Given the description of an element on the screen output the (x, y) to click on. 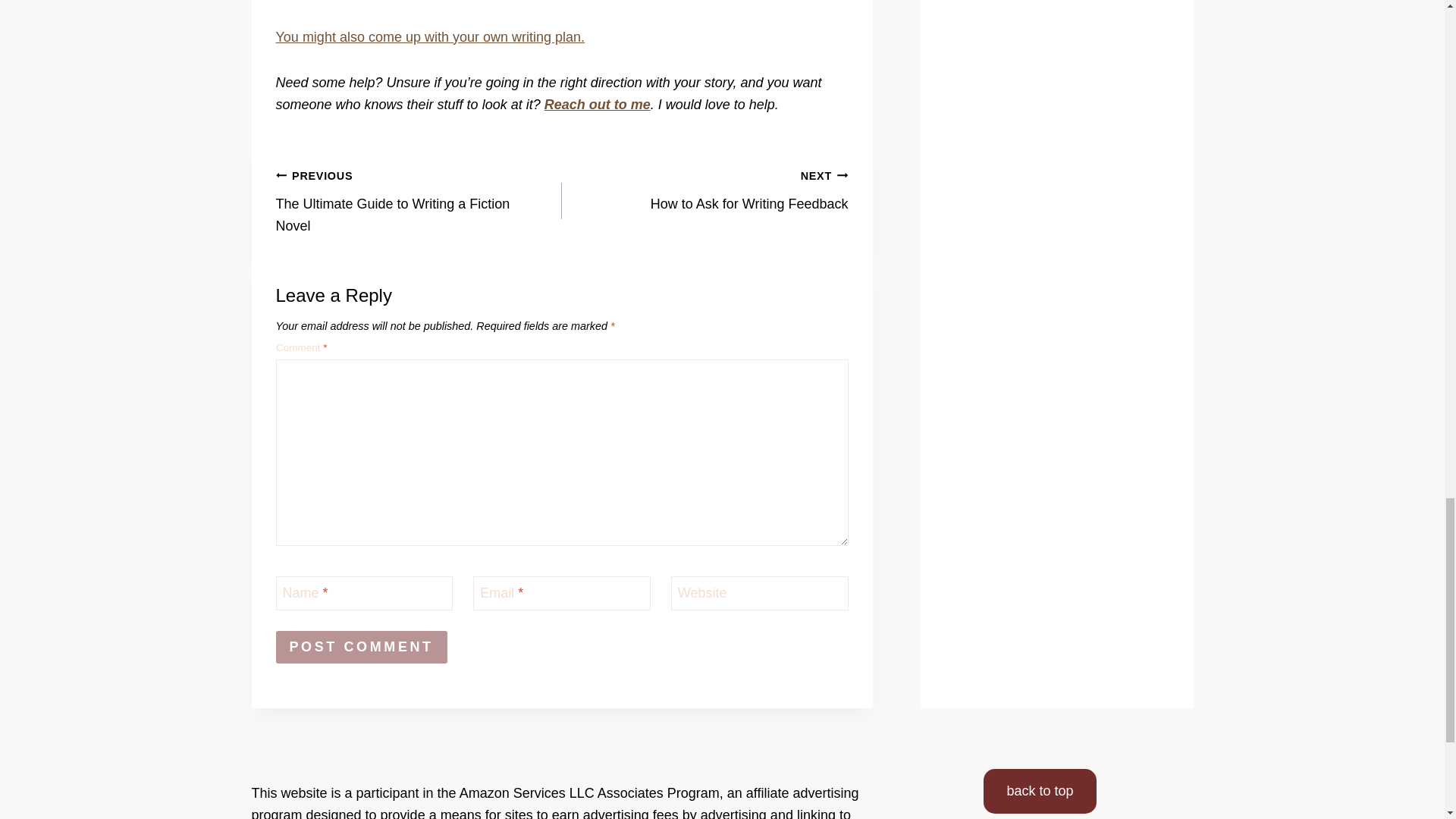
Post Comment (361, 646)
Post Comment (361, 646)
You might also come up with your own writing plan. (705, 189)
Reach out to me (419, 200)
